Given the description of an element on the screen output the (x, y) to click on. 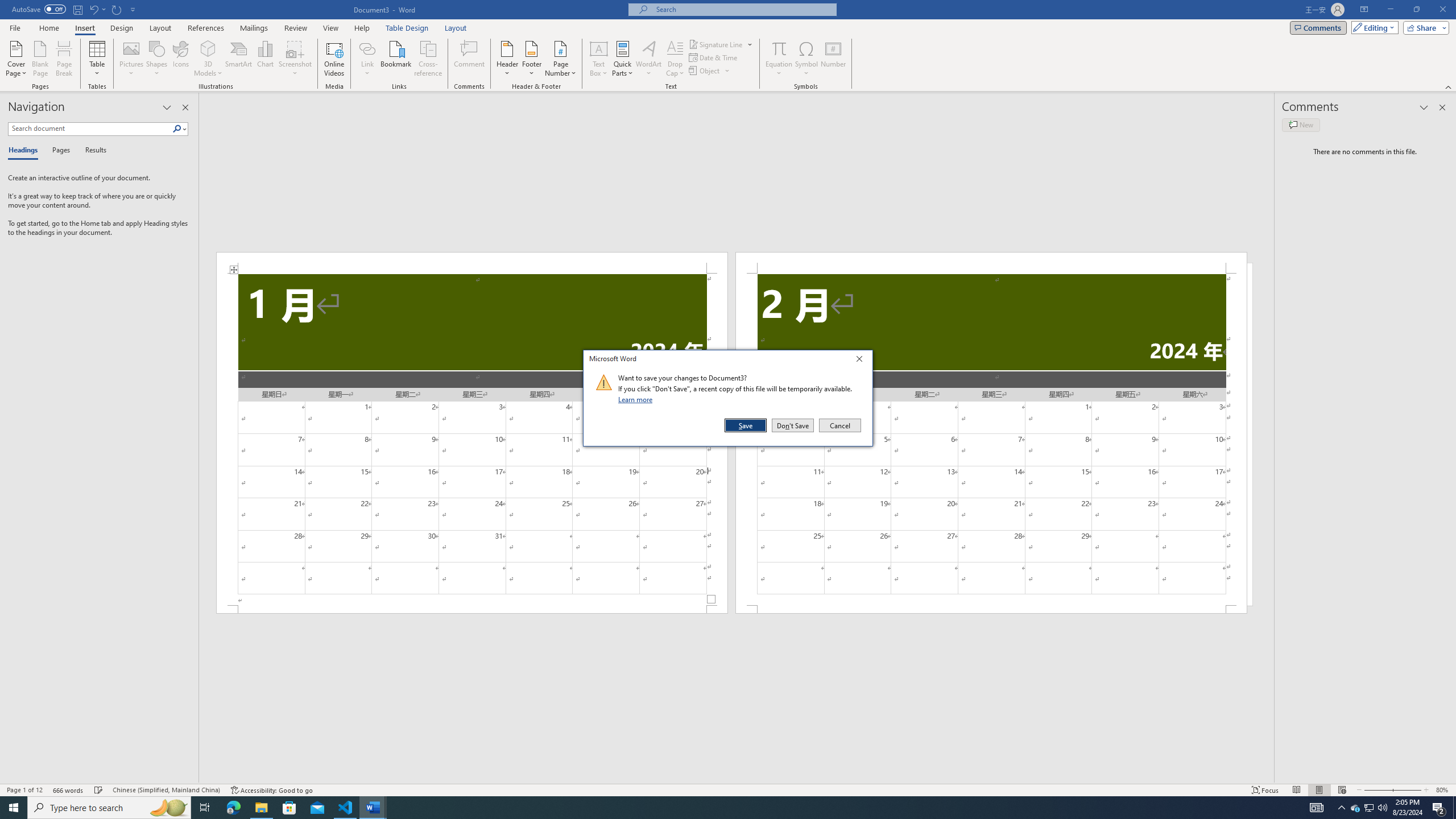
File Explorer - 1 running window (1368, 807)
Task View (261, 807)
Footer -Section 2- (204, 807)
Shapes (991, 609)
Page Break (156, 58)
Class: MsoCommandBar (63, 58)
